Given the description of an element on the screen output the (x, y) to click on. 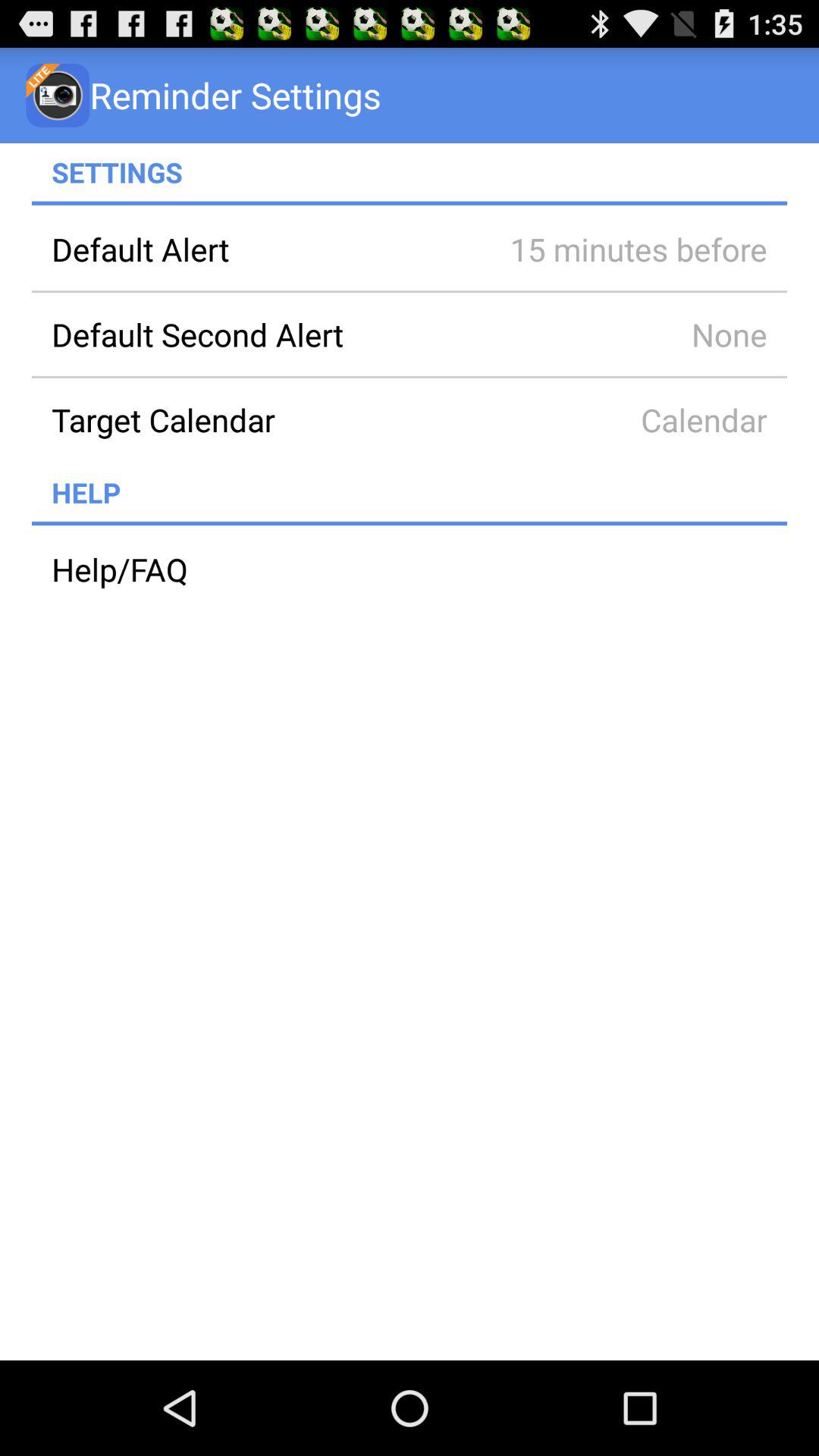
scroll to 15 minutes before icon (617, 248)
